Given the description of an element on the screen output the (x, y) to click on. 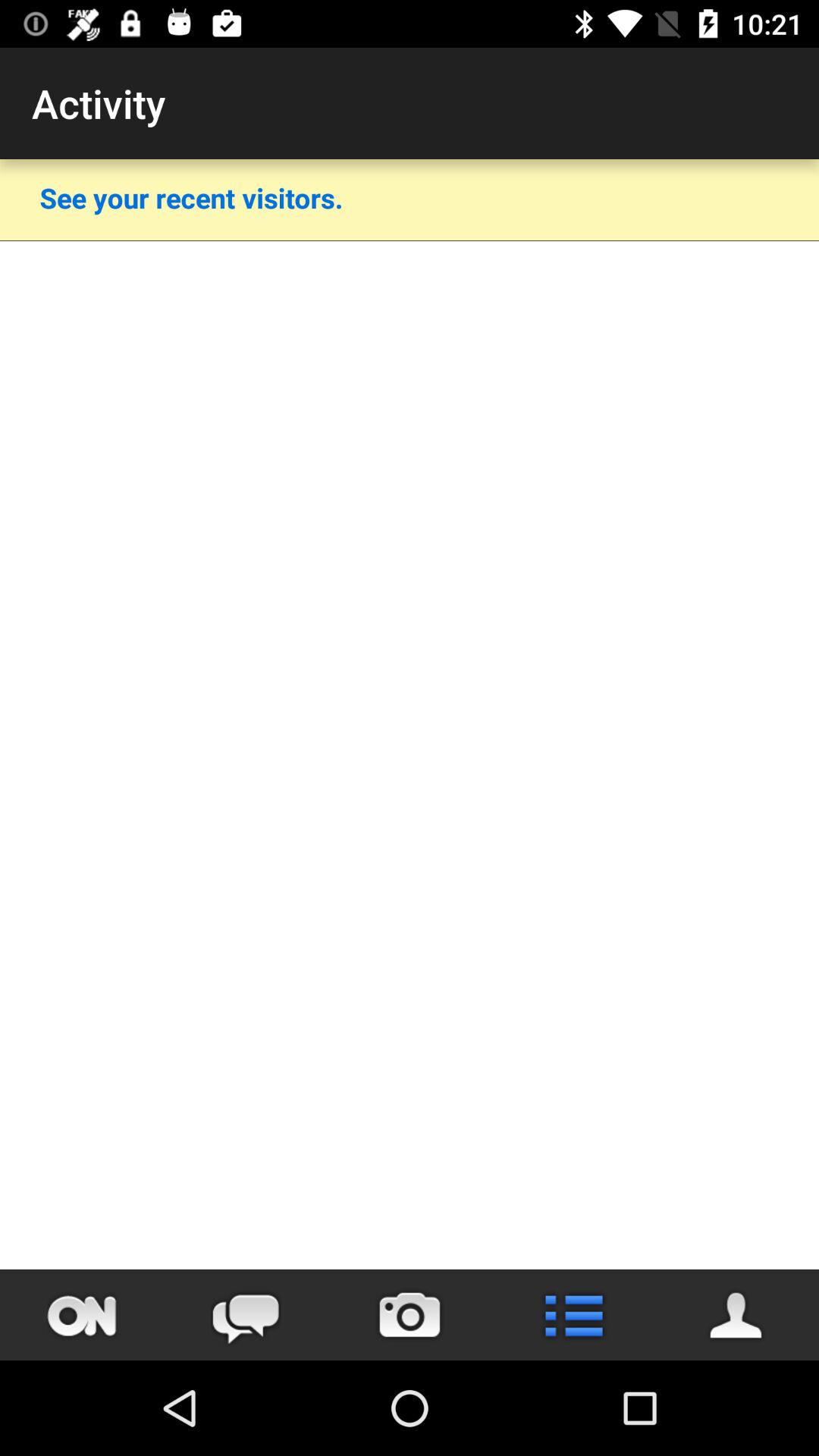
tap item below the see your recent item (409, 240)
